Given the description of an element on the screen output the (x, y) to click on. 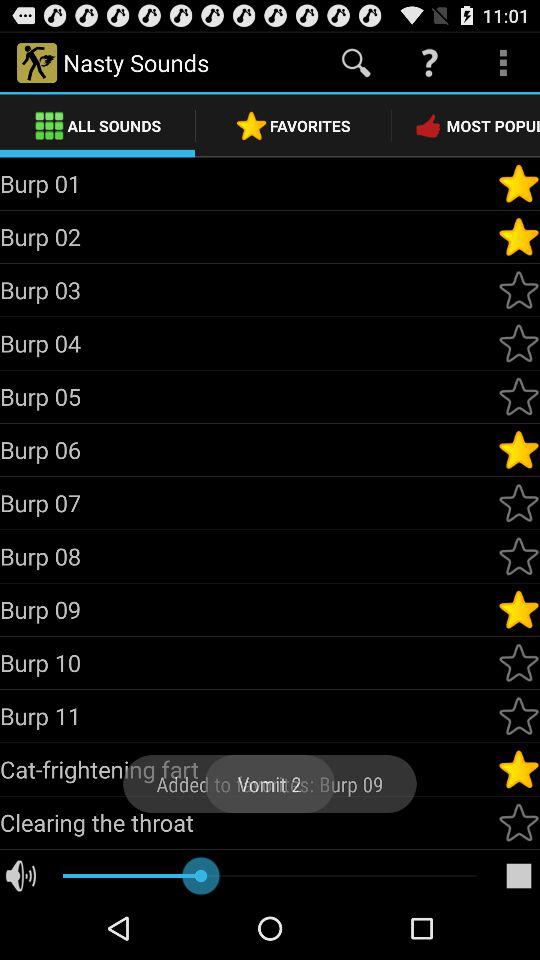
save the option (519, 556)
